Given the description of an element on the screen output the (x, y) to click on. 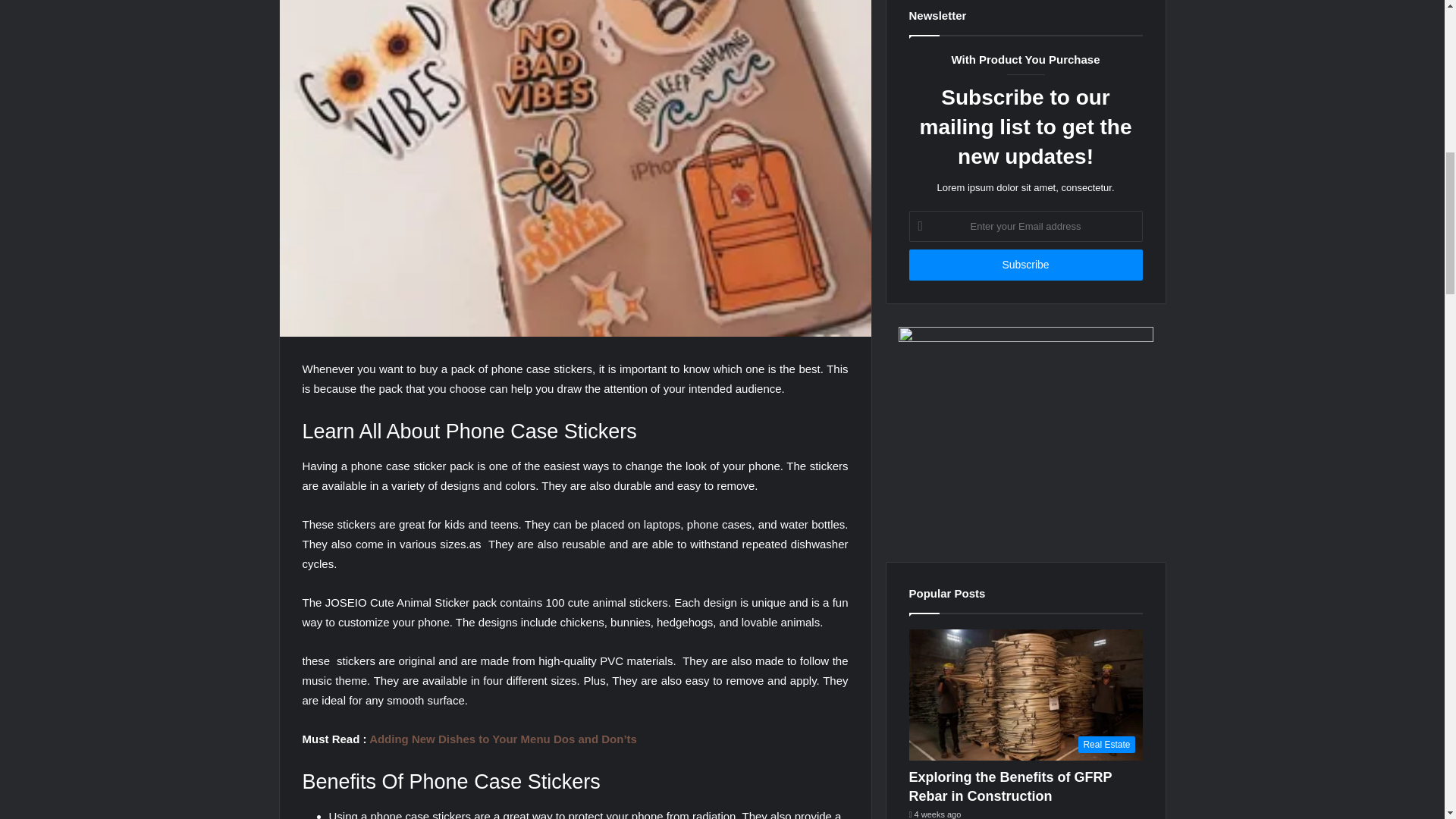
Subscribe (1025, 264)
